Given the description of an element on the screen output the (x, y) to click on. 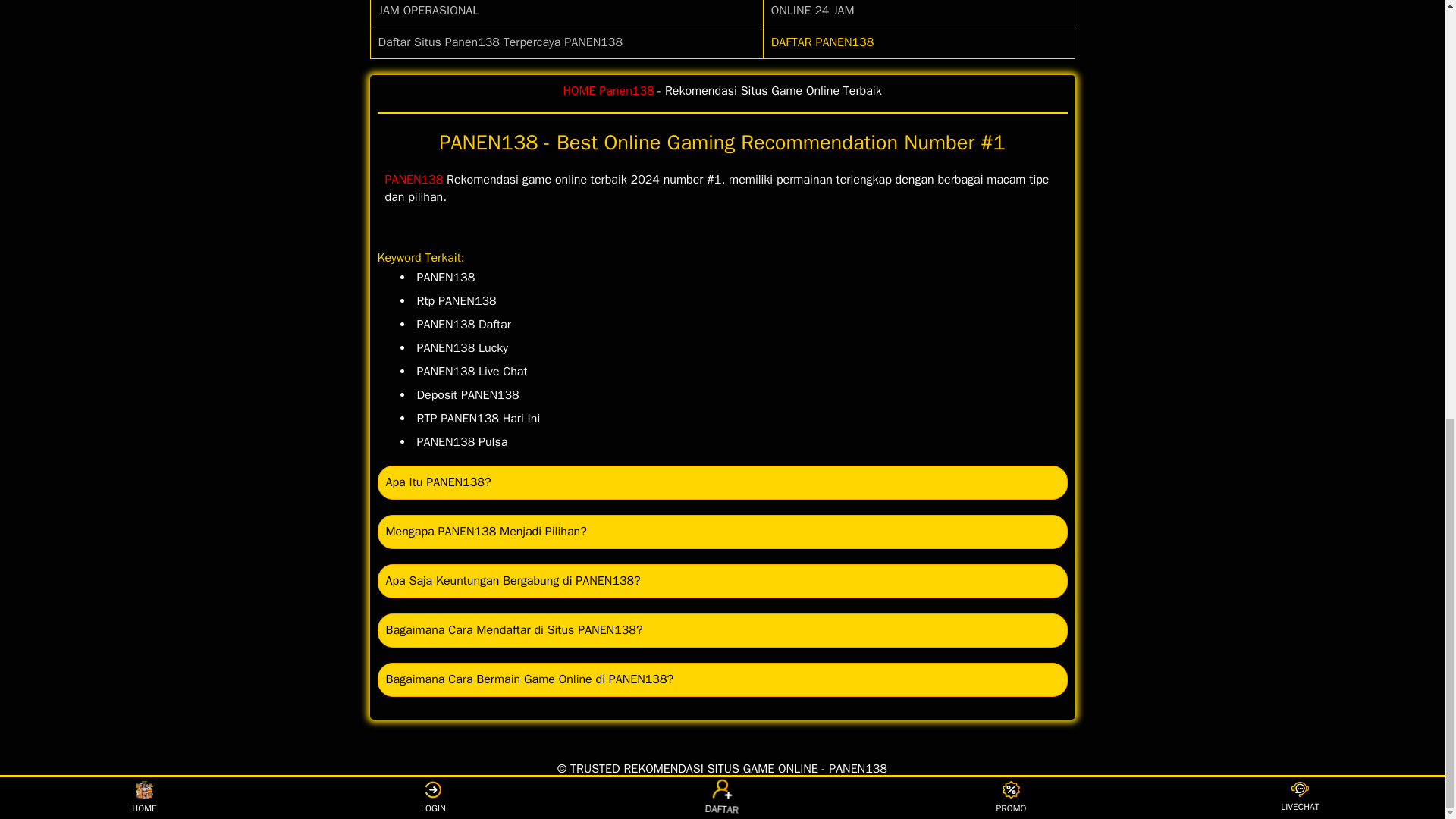
PANEN138 (414, 179)
DAFTAR PANEN138 (823, 42)
DAFTAR PANEN138 (823, 42)
HOME (578, 90)
Panen138 (625, 90)
